Given the description of an element on the screen output the (x, y) to click on. 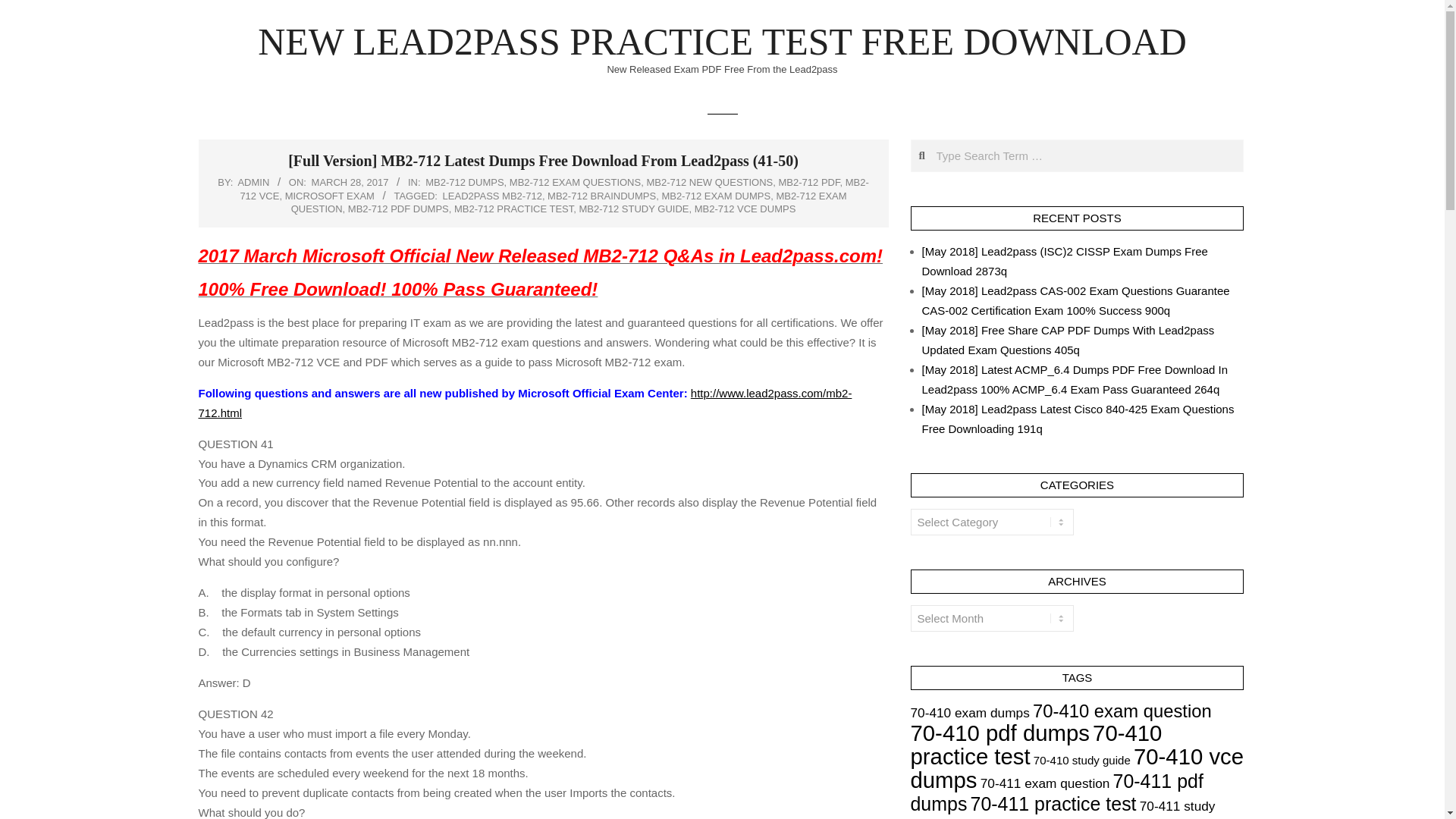
NEW LEAD2PASS PRACTICE TEST FREE DOWNLOAD (721, 41)
MB2-712 DUMPS (464, 182)
MB2-712 VCE (553, 188)
MB2-712 EXAM QUESTIONS (574, 182)
MICROSOFT EXAM (329, 195)
MB2-712 STUDY GUIDE (633, 208)
70-410 exam question (1121, 711)
MB2-712 PRACTICE TEST (513, 208)
LEAD2PASS MB2-712 (491, 195)
70-410 exam dumps (969, 712)
70-411 vce dumps (1022, 817)
MB2-712 EXAM DUMPS (715, 195)
Posts by admin (253, 182)
70-410 pdf dumps (999, 732)
MB2-712 BRAINDUMPS (601, 195)
